Given the description of an element on the screen output the (x, y) to click on. 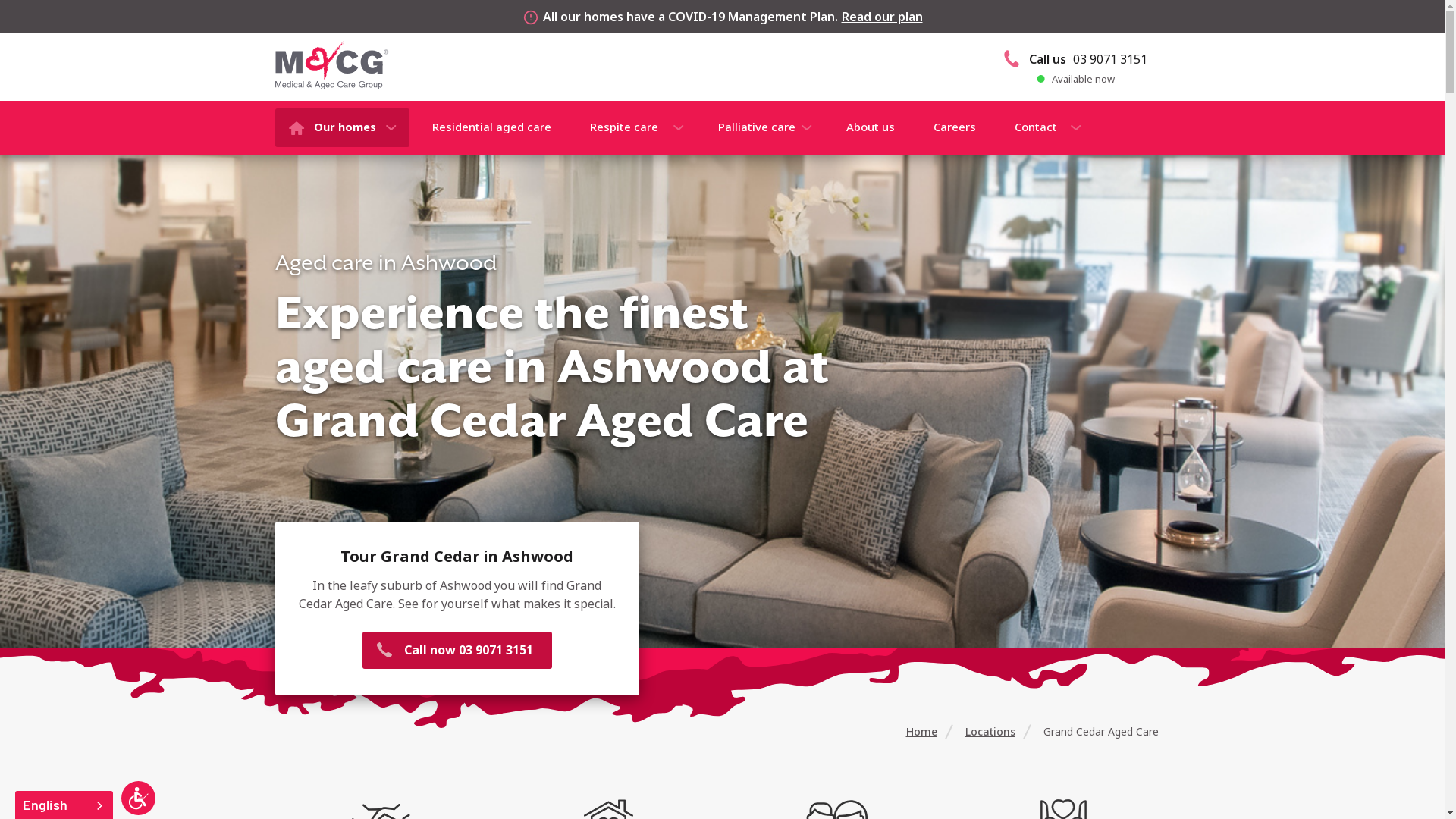
Contact Element type: text (1042, 127)
Residential aged care Element type: text (490, 127)
Palliative care Element type: text (762, 127)
Careers Element type: text (954, 127)
Our homes Element type: text (340, 127)
Call now 03 9071 3151 Element type: text (457, 649)
Home Element type: text (920, 731)
Read our plan Element type: text (881, 16)
Locations Element type: text (989, 731)
About us Element type: text (869, 127)
Call us 03 9071 3151
Available now Element type: text (1075, 67)
Respite care Element type: text (633, 127)
